Given the description of an element on the screen output the (x, y) to click on. 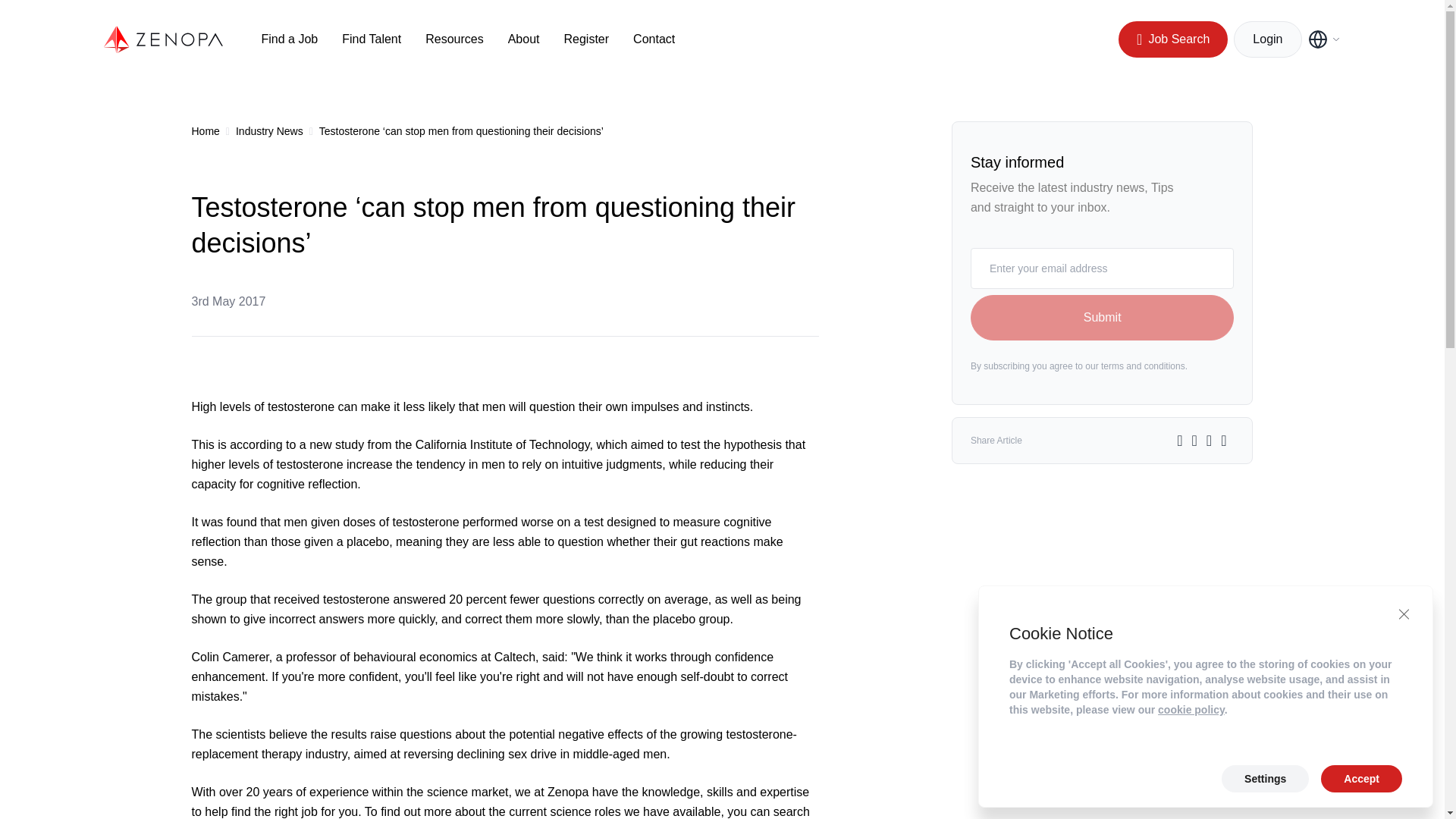
Zenopa (163, 39)
Find a Job (288, 39)
Find Talent (371, 39)
